Given the description of an element on the screen output the (x, y) to click on. 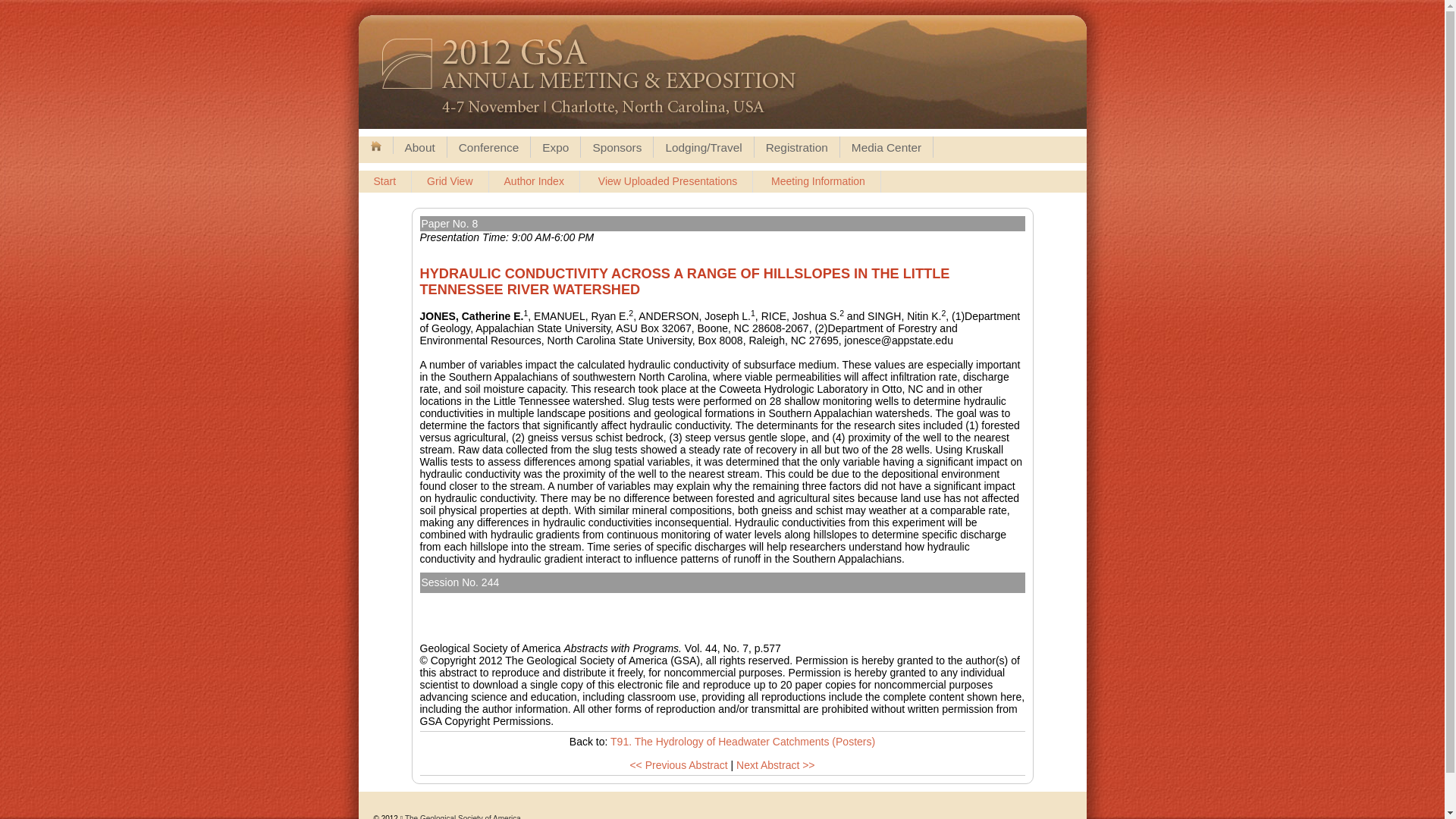
Expo (555, 147)
Grid View (449, 181)
Sponsors (616, 147)
About (419, 147)
View Uploaded Presentations (667, 181)
The Geological Society of America (462, 816)
Conference (488, 147)
Registration (797, 147)
Media Center (886, 147)
Author Index (534, 181)
